Given the description of an element on the screen output the (x, y) to click on. 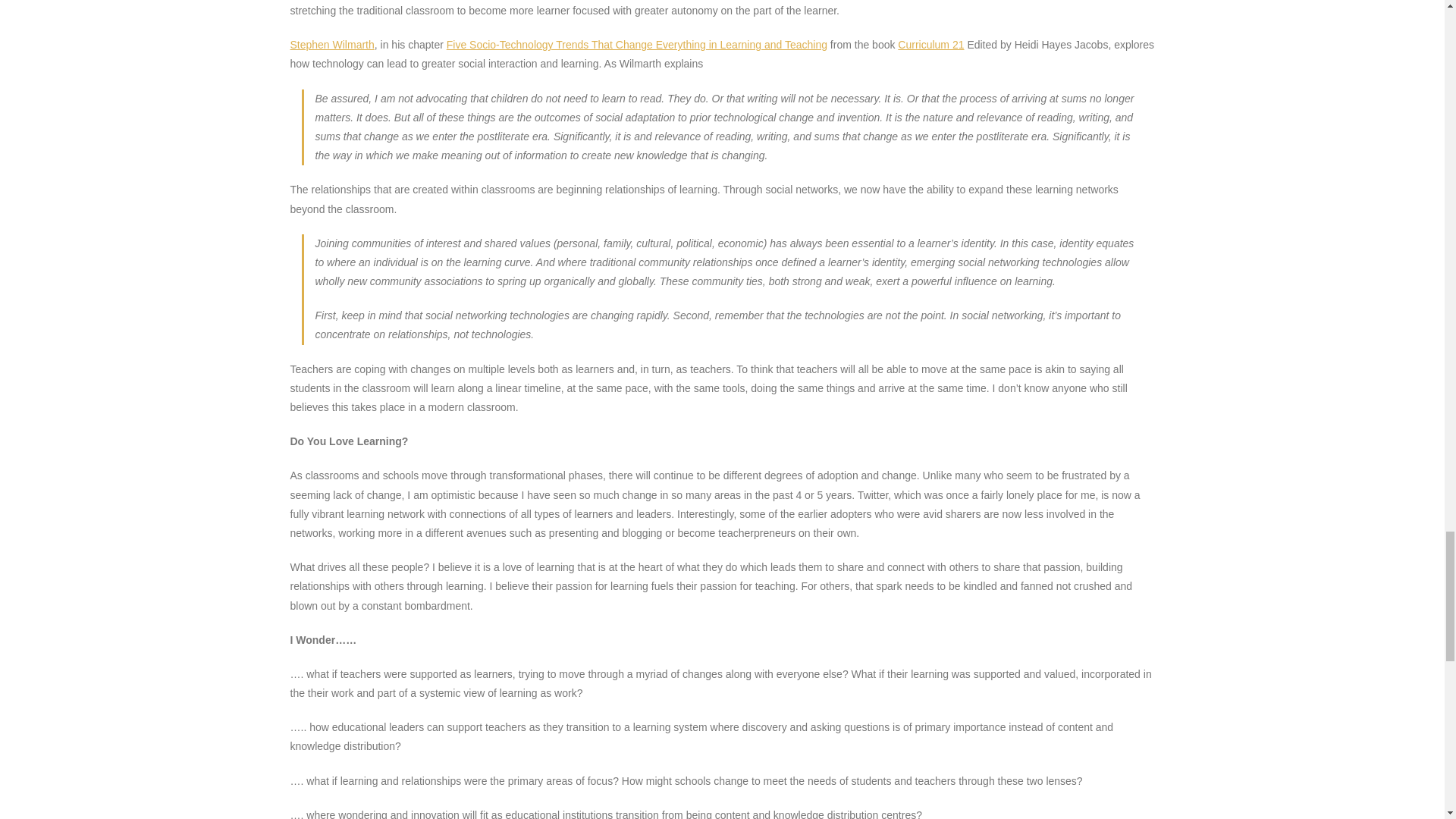
Page 1 (725, 127)
Page 4 (725, 289)
